Given the description of an element on the screen output the (x, y) to click on. 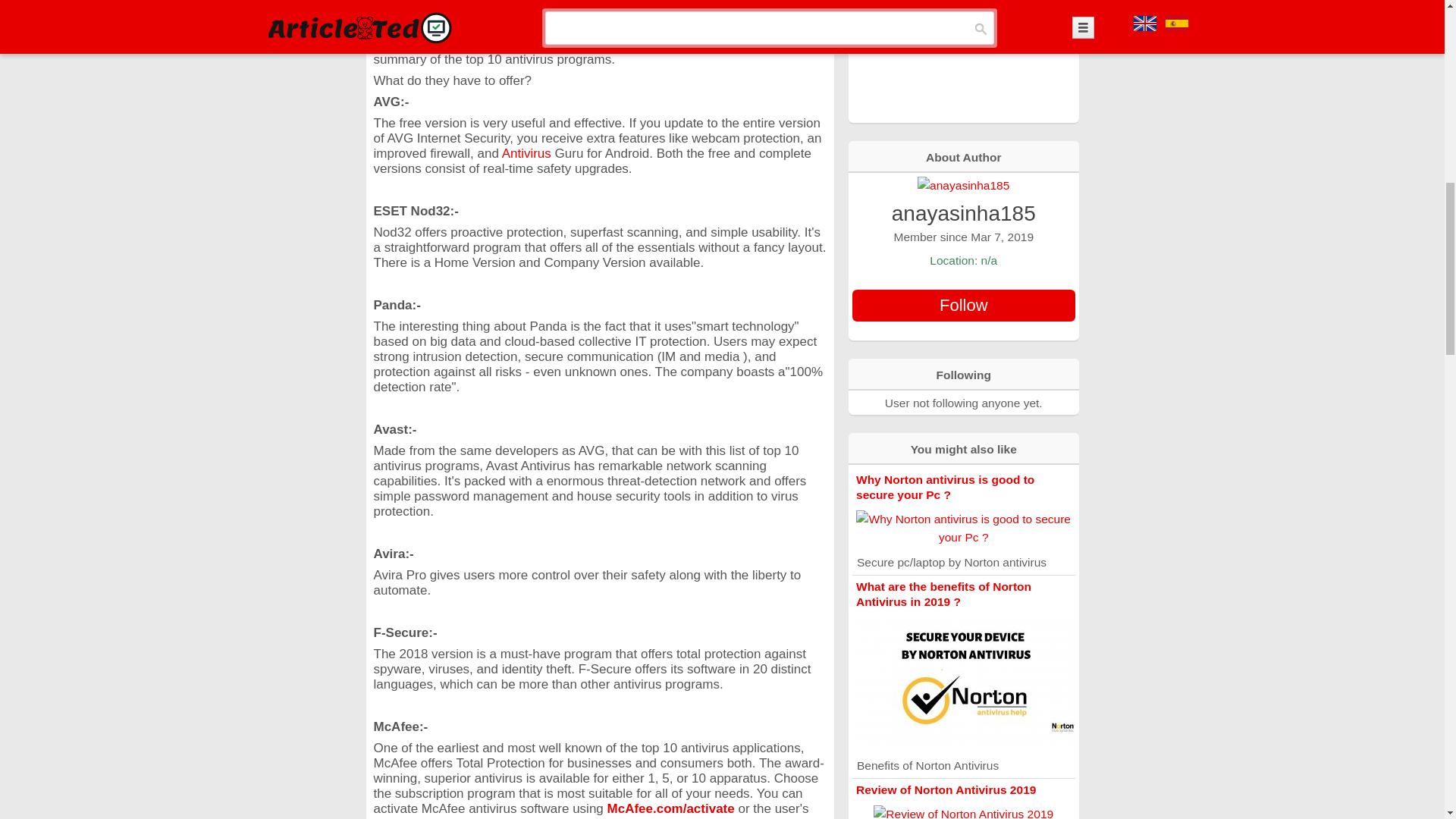
Follow (963, 305)
What are the benefits of Norton Antivirus in 2019 ? (943, 593)
Review of Norton Antivirus 2019 (945, 789)
Why Norton antivirus is good to secure your Pc ? (944, 487)
Antivirus (526, 153)
